Given the description of an element on the screen output the (x, y) to click on. 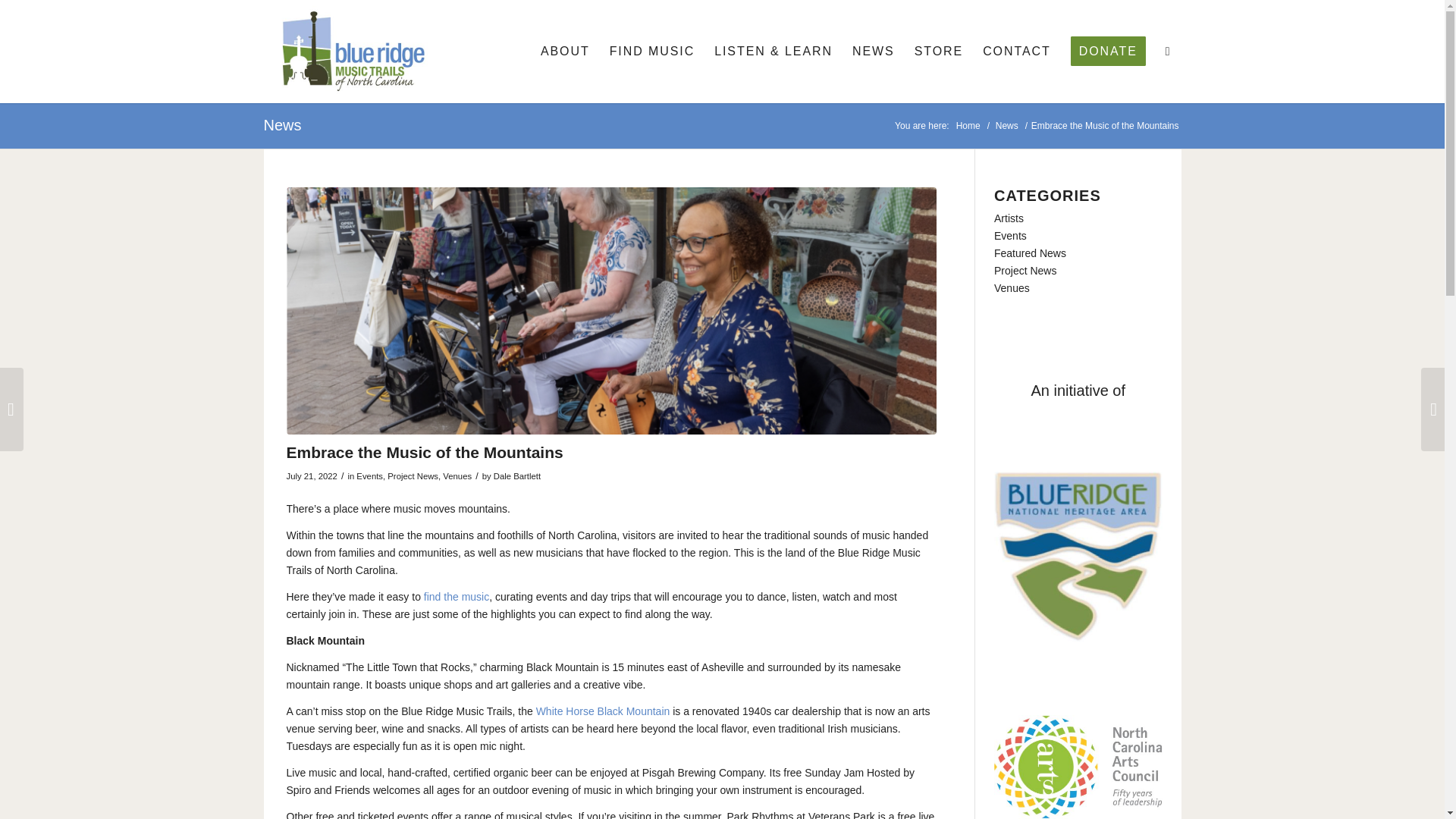
News (1007, 125)
Blue Ridge Music Trails (968, 125)
FIND MUSIC (651, 51)
BRMT large logo 2 (349, 51)
News (1007, 125)
Posts by Dale Bartlett (516, 475)
News (282, 125)
Home (968, 125)
Permanent Link: News (282, 125)
DONATE (1108, 51)
